Given the description of an element on the screen output the (x, y) to click on. 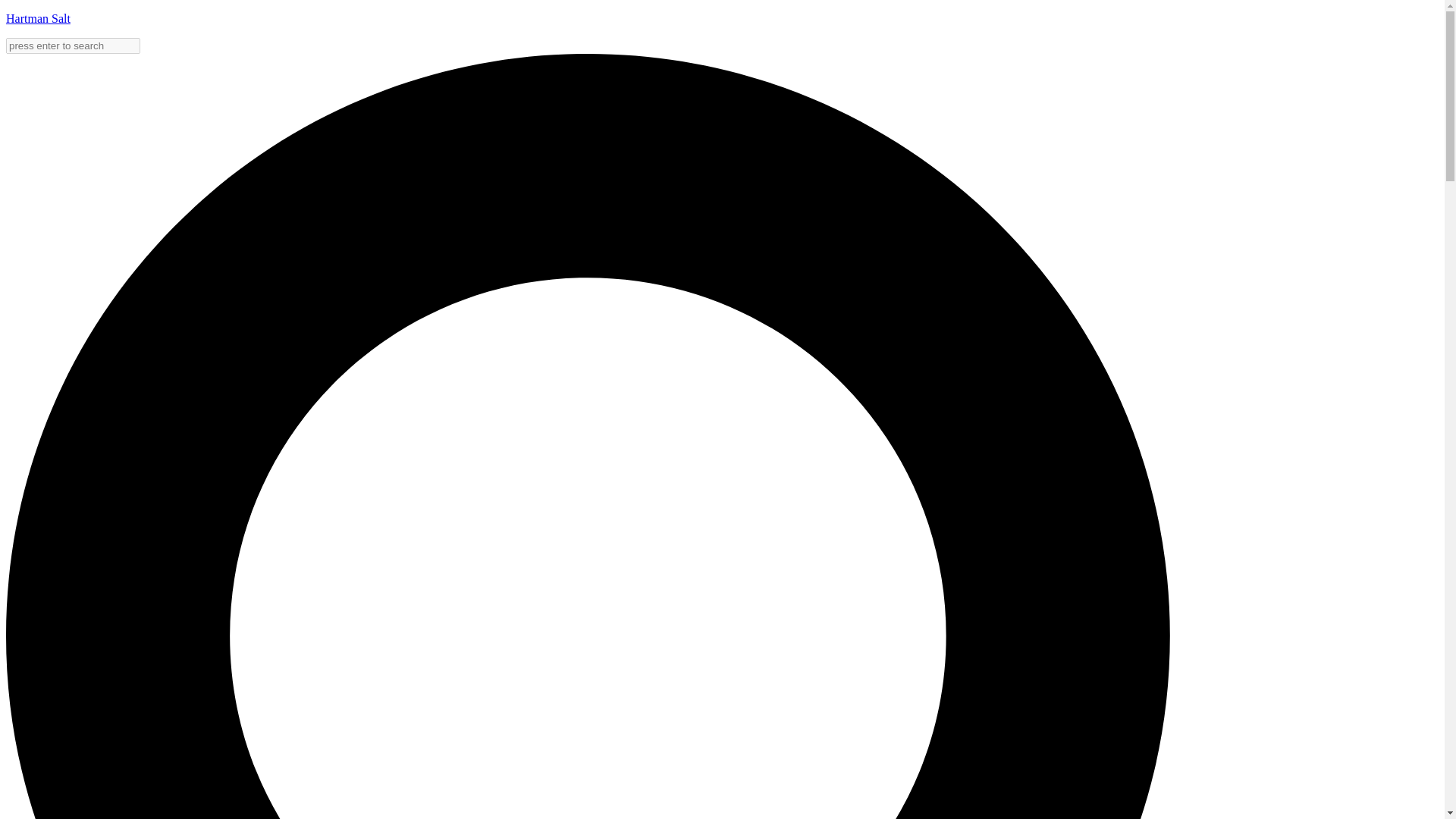
Hartman Salt (37, 18)
